Given the description of an element on the screen output the (x, y) to click on. 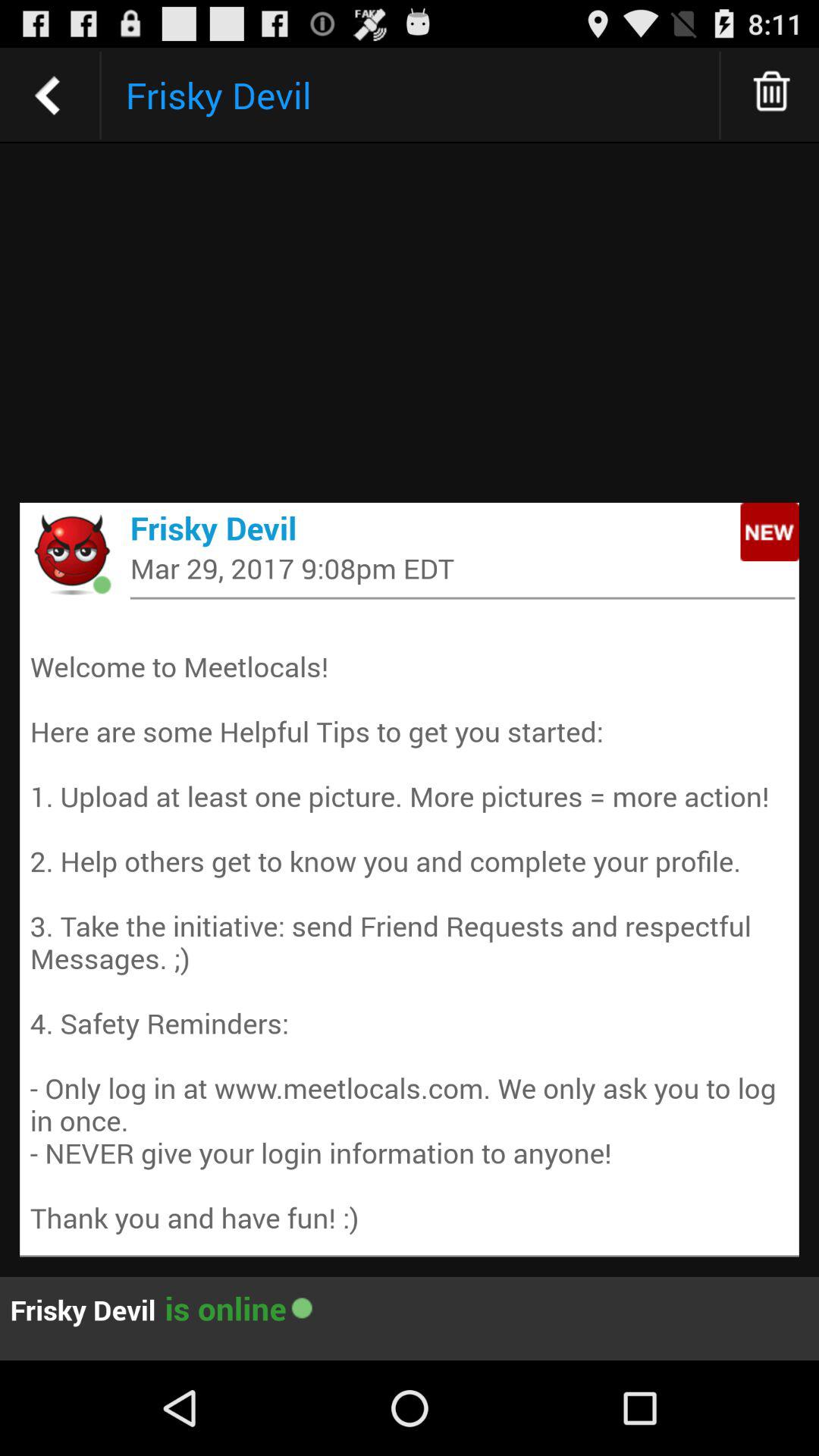
launch the welcome to meetlocals (409, 925)
